Given the description of an element on the screen output the (x, y) to click on. 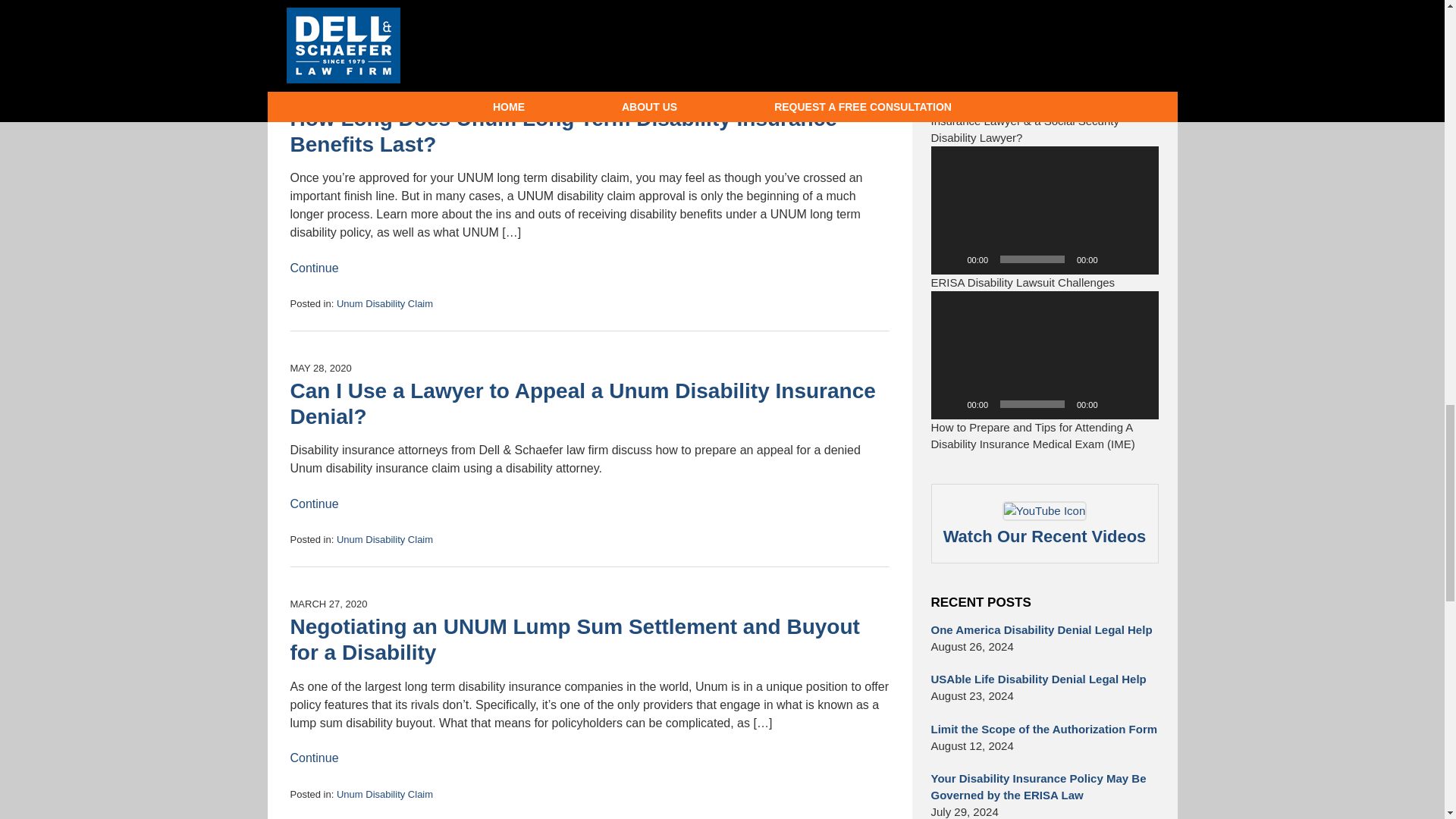
View all posts in Unum Disability Claim (384, 30)
